Given the description of an element on the screen output the (x, y) to click on. 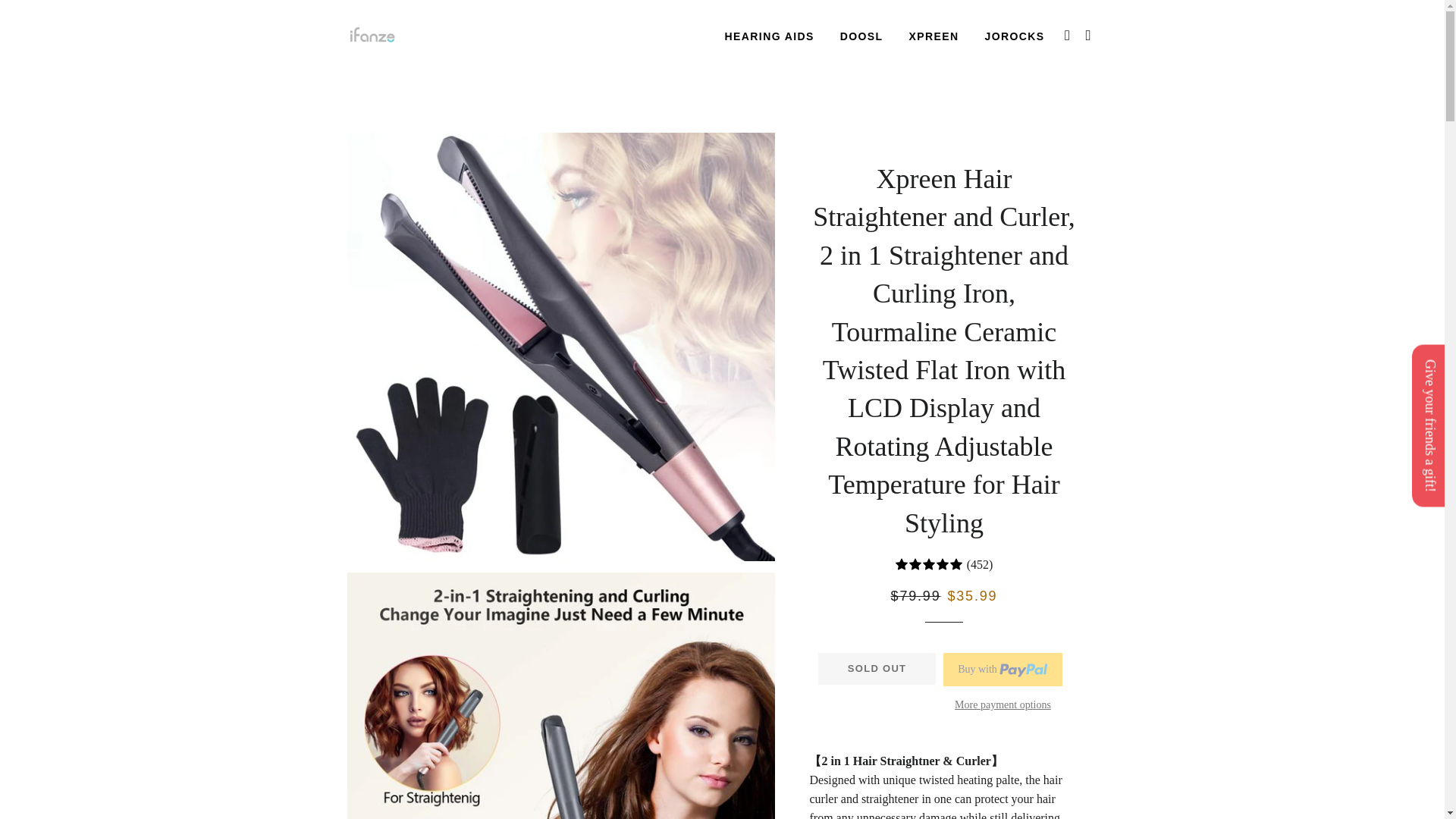
DOOSL (861, 36)
JOROCKS (1015, 36)
XPREEN (934, 36)
HEARING AIDS (769, 36)
More payment options (1002, 704)
SOLD OUT (877, 668)
